Given the description of an element on the screen output the (x, y) to click on. 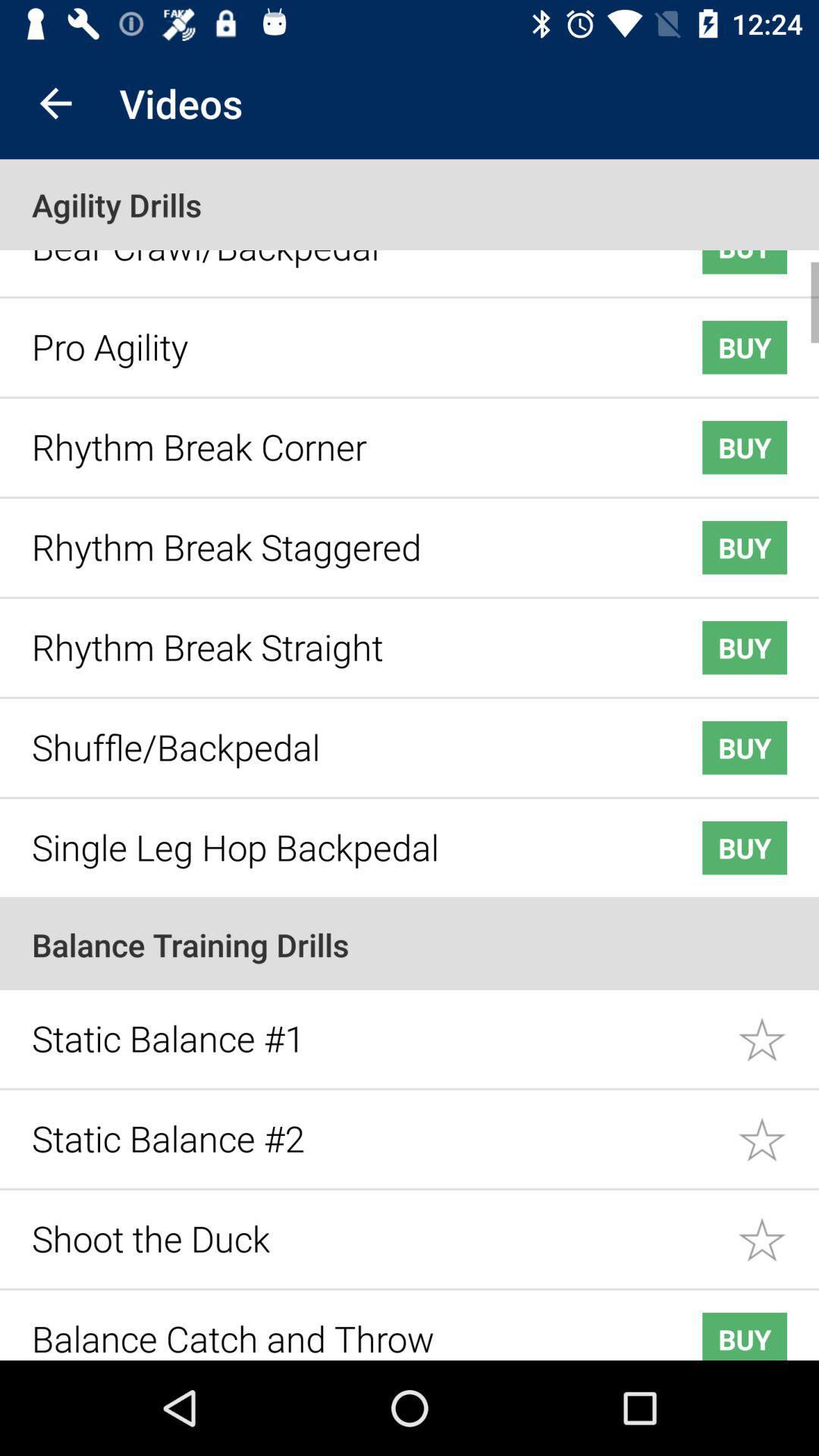
tap item next to the videos app (55, 103)
